Given the description of an element on the screen output the (x, y) to click on. 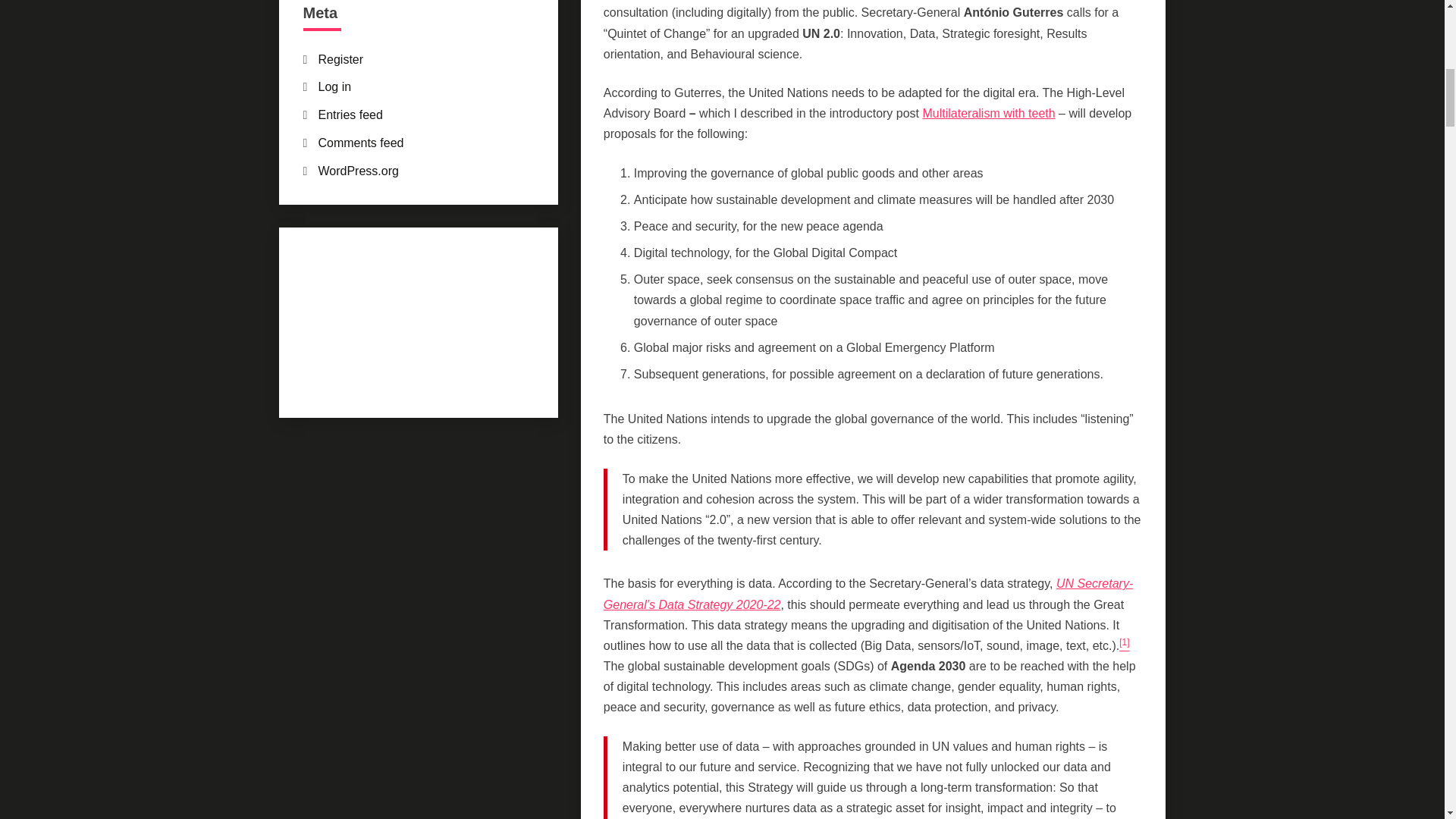
Multilateralism with teeth (987, 113)
